Given the description of an element on the screen output the (x, y) to click on. 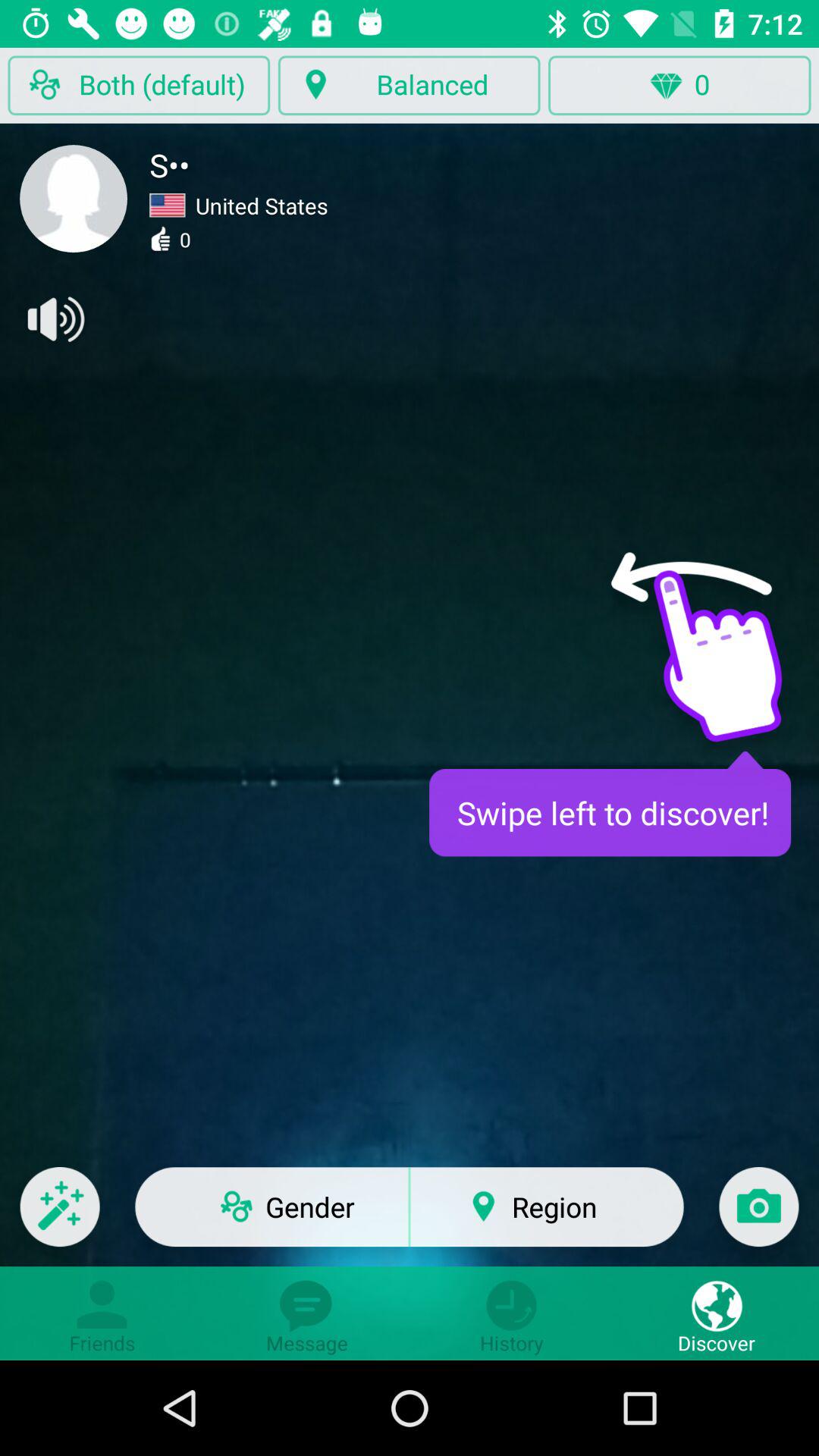
select the item above the friends (59, 1216)
